Given the description of an element on the screen output the (x, y) to click on. 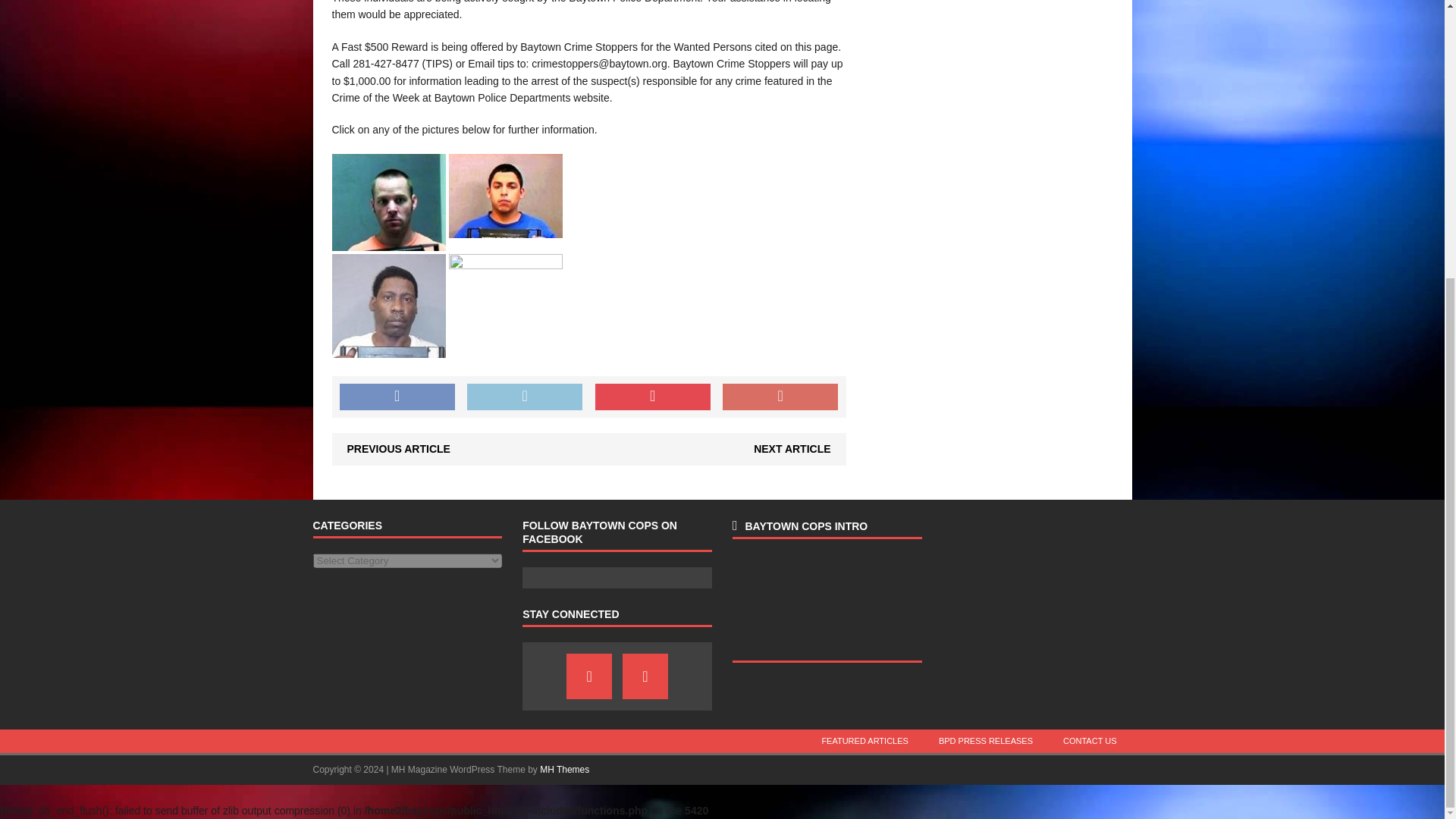
Share on Facebook (396, 397)
Premium WordPress Themes (564, 769)
Tweet This Post (524, 397)
Pin This Post (652, 397)
